Given the description of an element on the screen output the (x, y) to click on. 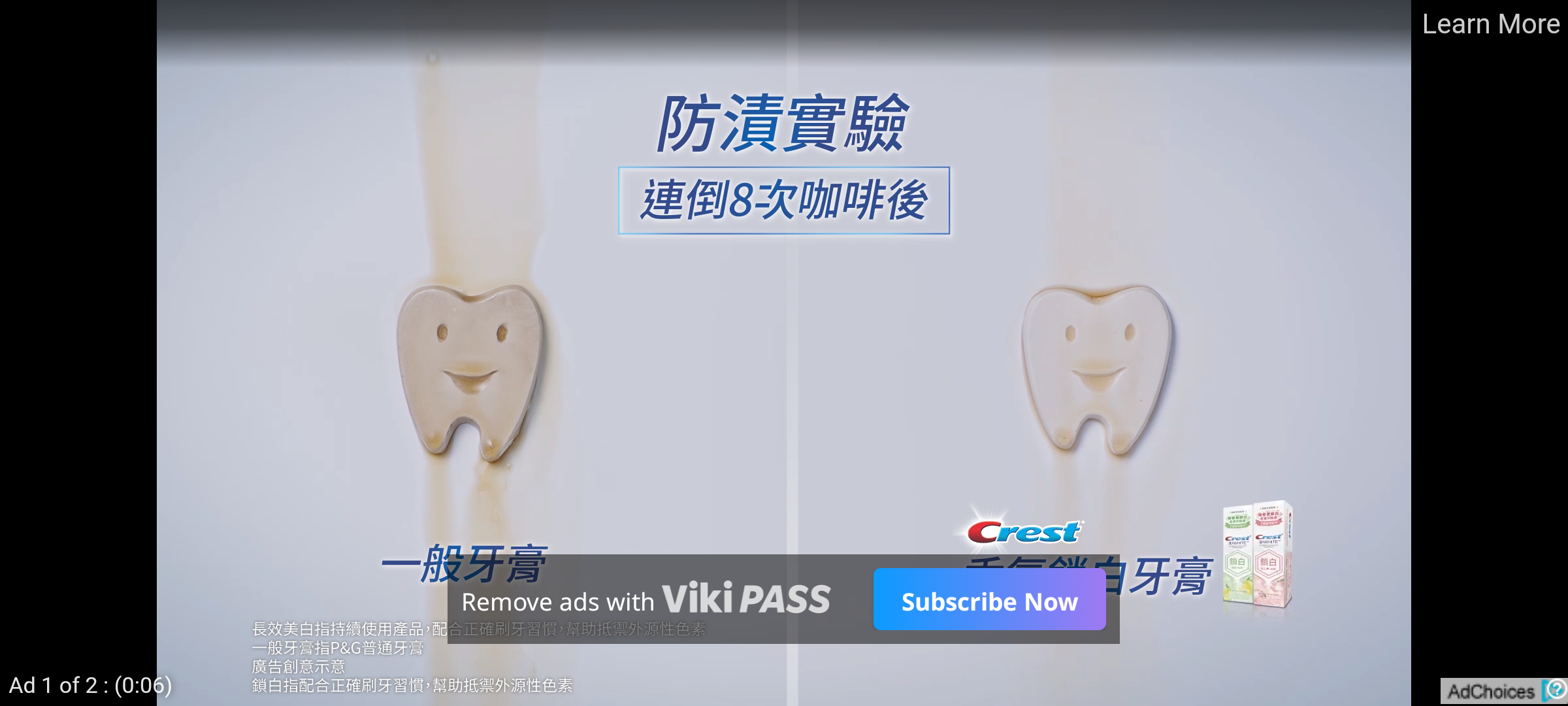
Learn More (1490, 24)
Subscribe Now (989, 599)
Ad 1 of 2 : (0:06) (90, 684)
help_outline_white_24dp_with_3px_trbl_padding (1553, 688)
get?name=admarker-full-tl (1504, 690)
